Given the description of an element on the screen output the (x, y) to click on. 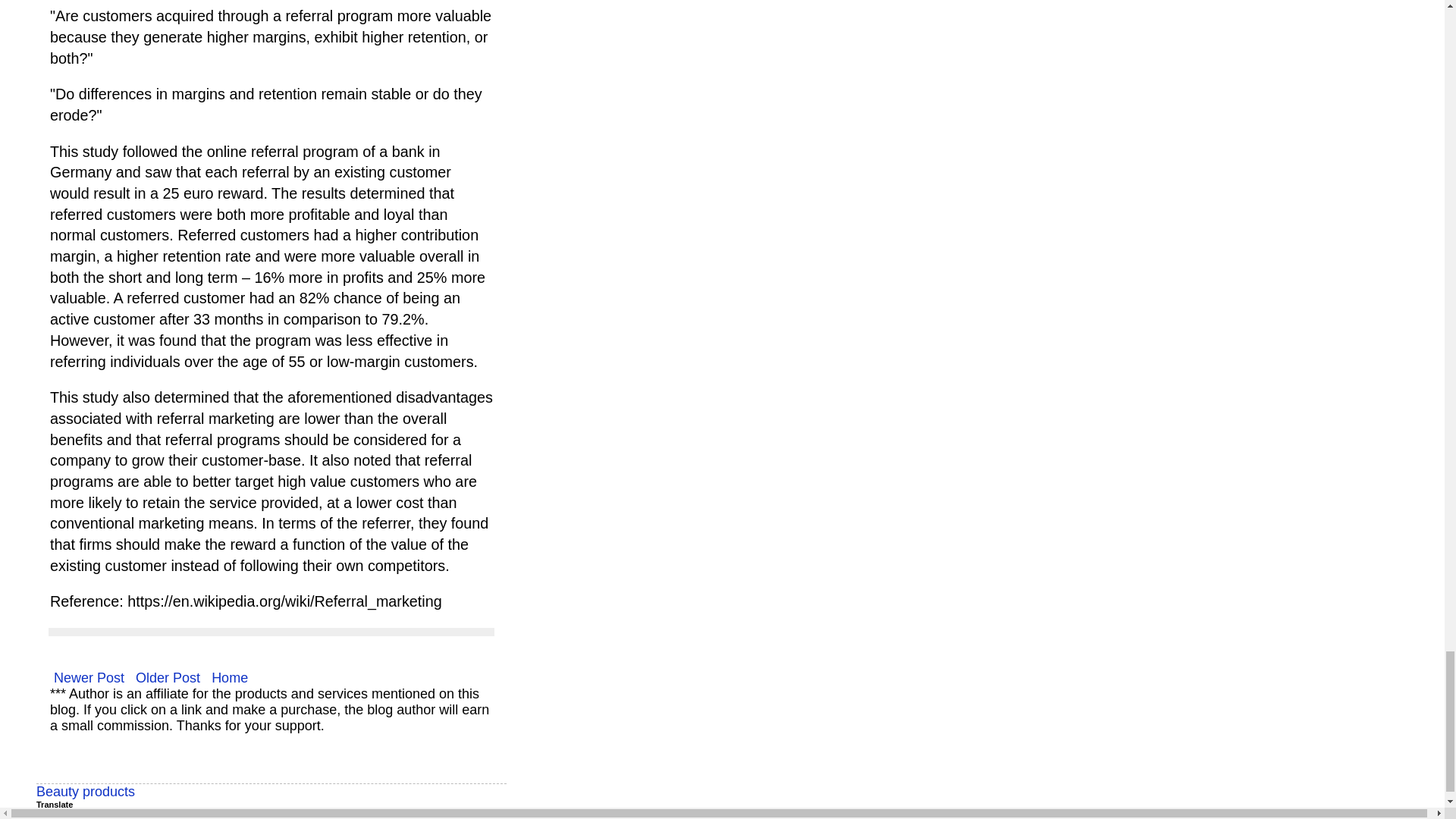
Older Post (167, 677)
Newer Post (88, 677)
Home (229, 677)
Older Post (167, 677)
Beauty products (85, 791)
Newer Post (88, 677)
